Given the description of an element on the screen output the (x, y) to click on. 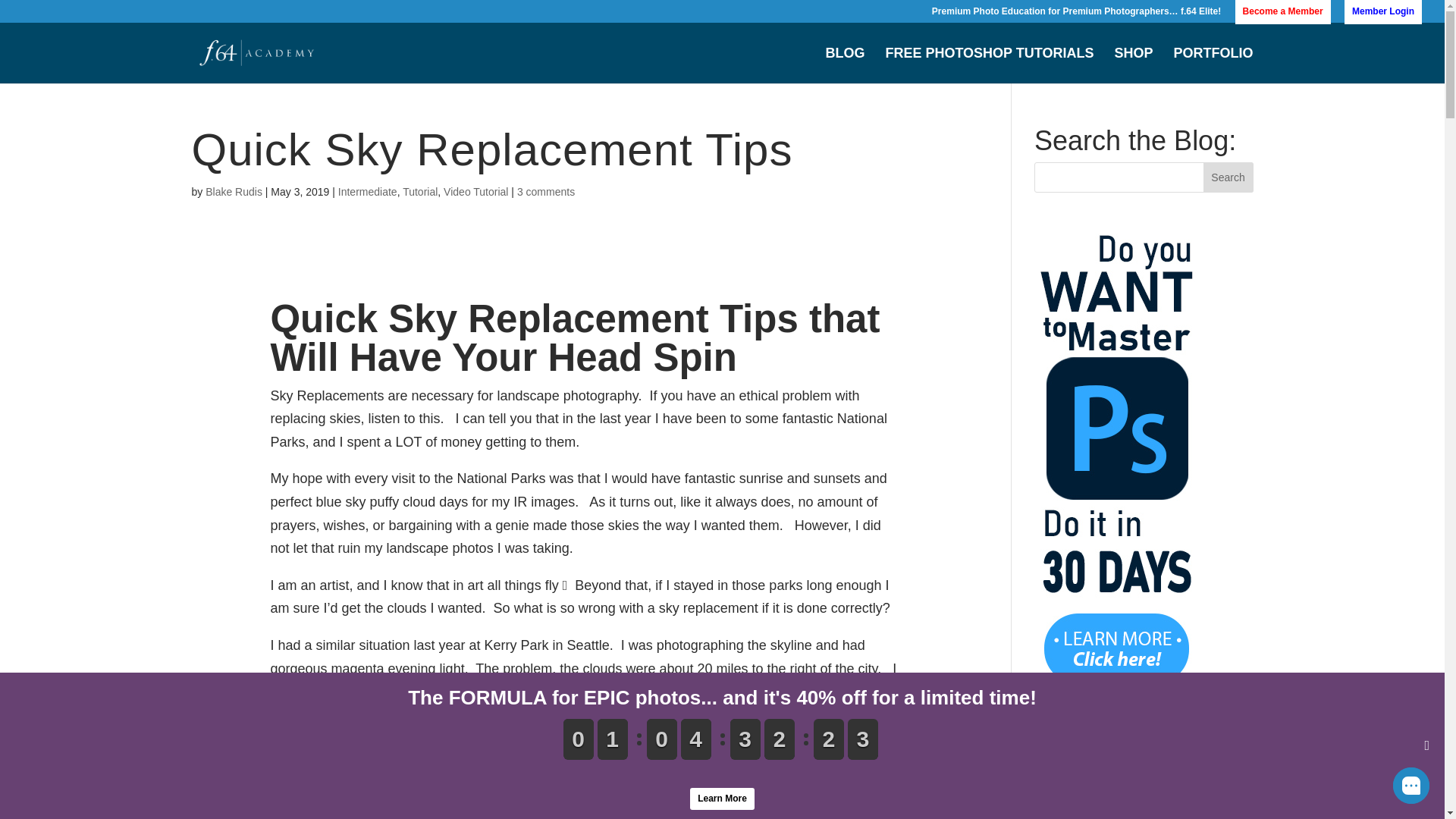
Member Login (1382, 14)
Intermediate (367, 191)
Blake Rudis (233, 191)
Posts by Blake Rudis (233, 191)
Become a Member (1282, 14)
PORTFOLIO (1213, 65)
SHOP (1133, 65)
Search (1228, 177)
FREE PHOTOSHOP TUTORIALS (989, 65)
Search (1228, 177)
BLOG (844, 65)
3 comments (545, 191)
Tutorial (420, 191)
Video Tutorial (476, 191)
